Given the description of an element on the screen output the (x, y) to click on. 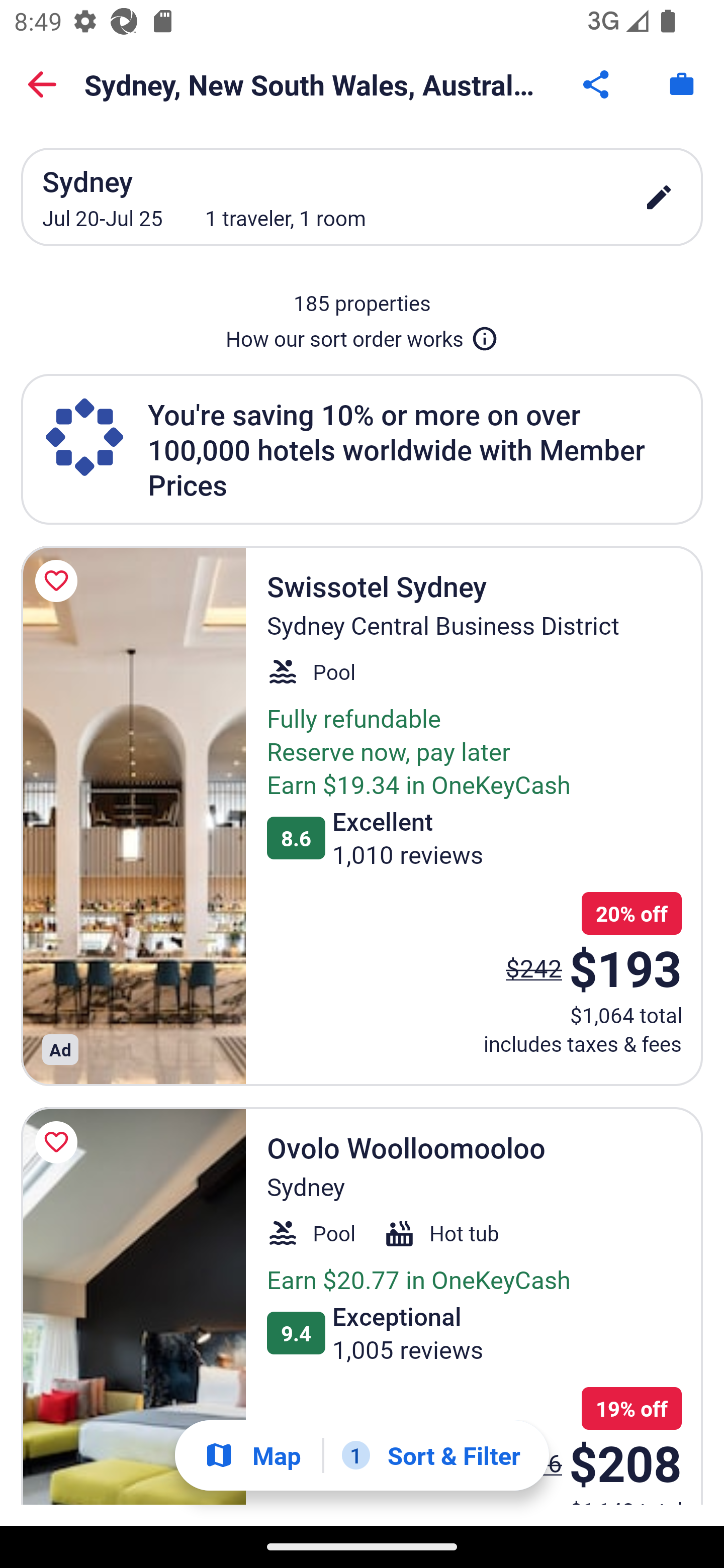
Back (42, 84)
Share Button (597, 84)
Trips. Button (681, 84)
Sydney Jul 20-Jul 25 1 traveler, 1 room edit (361, 196)
How our sort order works (361, 334)
Save Swissotel Sydney to a trip (59, 580)
Swissotel Sydney (133, 815)
$242 The price was $242 (533, 967)
Save Ovolo Woolloomooloo to a trip (59, 1141)
Ovolo Woolloomooloo (133, 1306)
1 Sort & Filter 1 Filter applied. Filters Button (430, 1455)
Show map Map Show map Button (252, 1455)
